Given the description of an element on the screen output the (x, y) to click on. 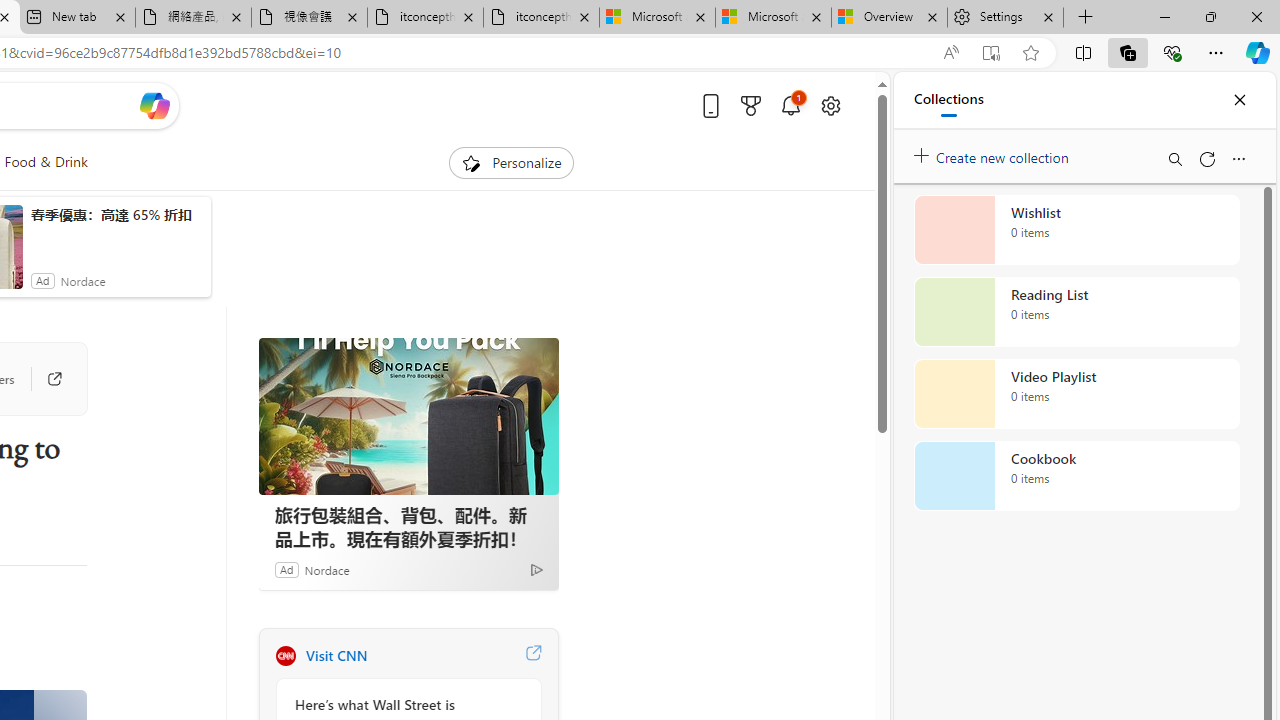
Food & Drink (45, 162)
To get missing image descriptions, open the context menu. (471, 162)
Overview (889, 17)
Reading List collection, 0 items (1076, 312)
Create new collection (994, 153)
Go to publisher's site (44, 378)
Cookbook collection, 0 items (1076, 475)
